Given the description of an element on the screen output the (x, y) to click on. 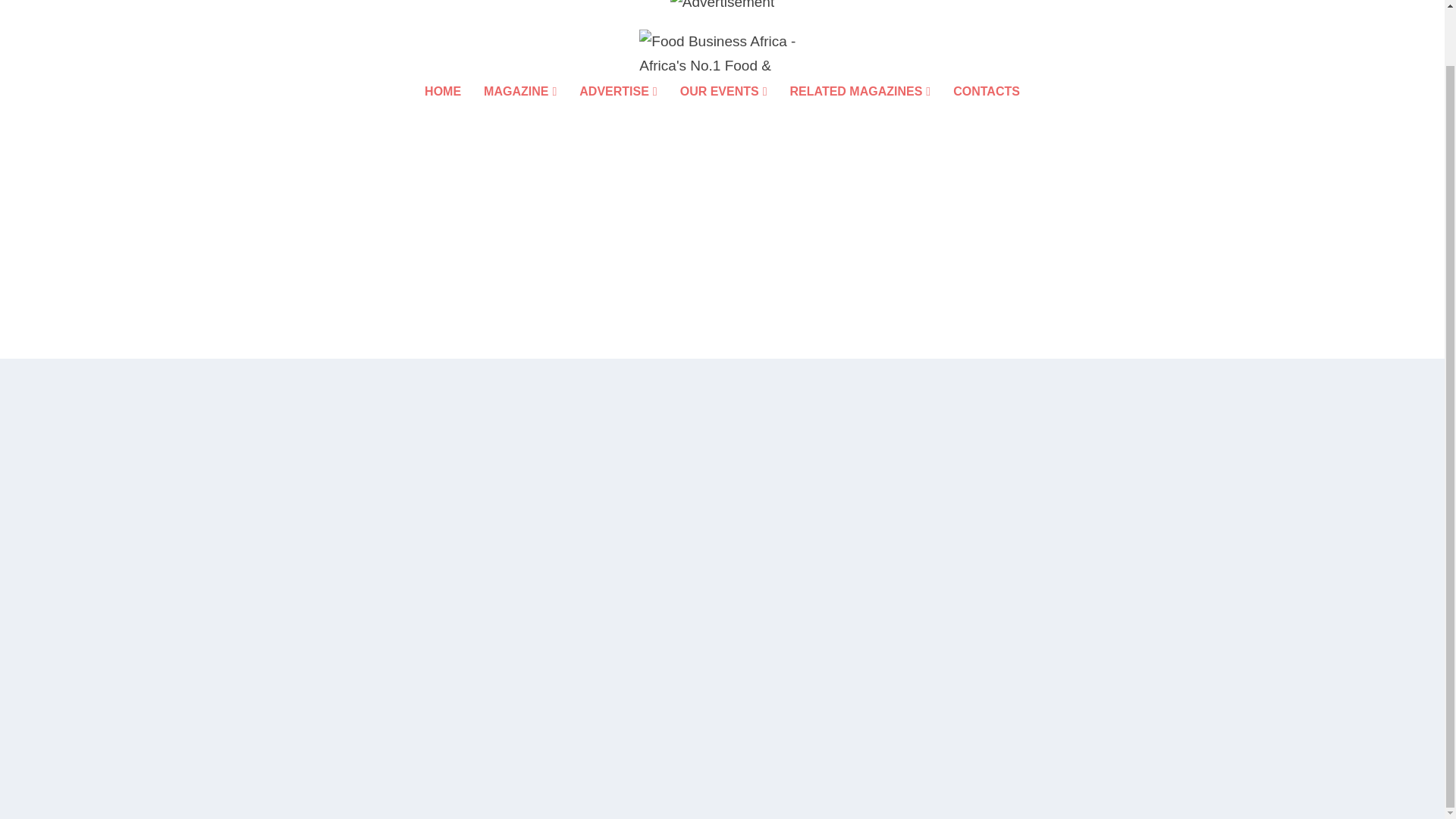
MAGAZINE (519, 111)
RELATED MAGAZINES (860, 111)
CONTACTS (986, 111)
ADVERTISE (617, 111)
OUR EVENTS (723, 111)
